Given the description of an element on the screen output the (x, y) to click on. 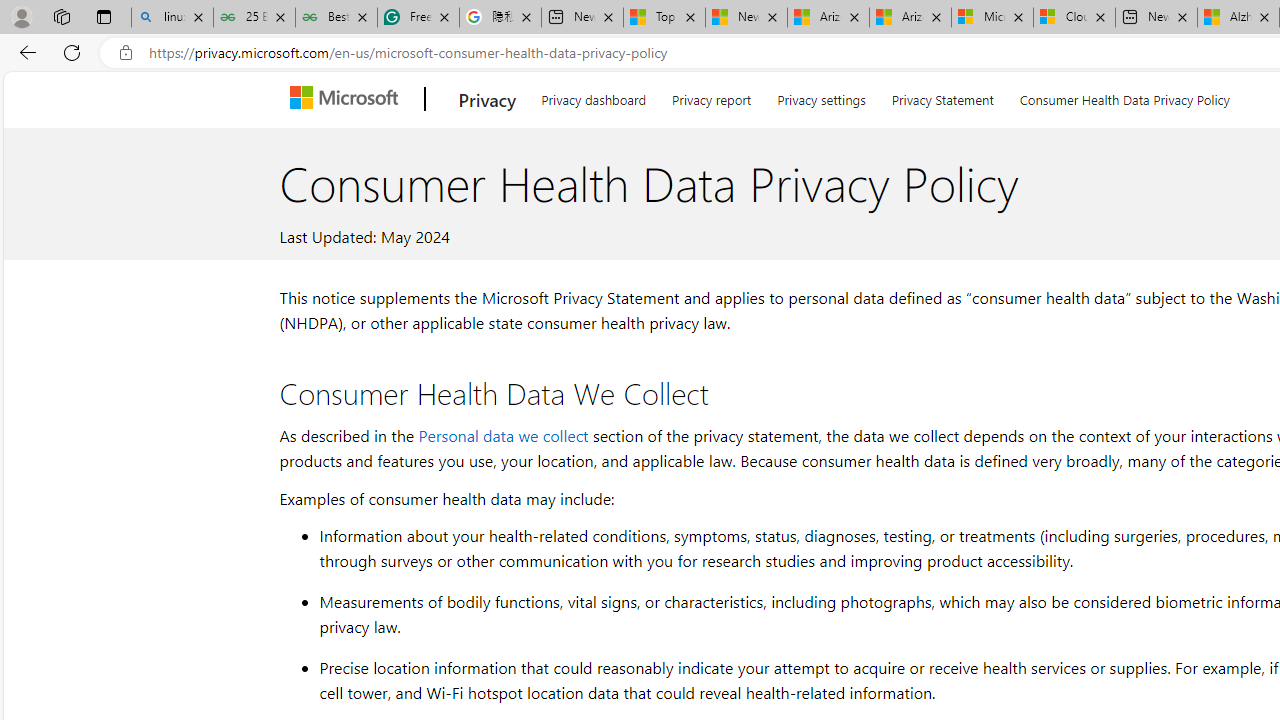
Privacy Statement (942, 96)
Personal data we collect (503, 434)
linux basic - Search (171, 17)
News - MSN (746, 17)
Consumer Health Data Privacy Policy (1124, 96)
Privacy Statement (942, 96)
Privacy report (712, 96)
Privacy report (712, 96)
Privacy dashboard (593, 96)
